Given the description of an element on the screen output the (x, y) to click on. 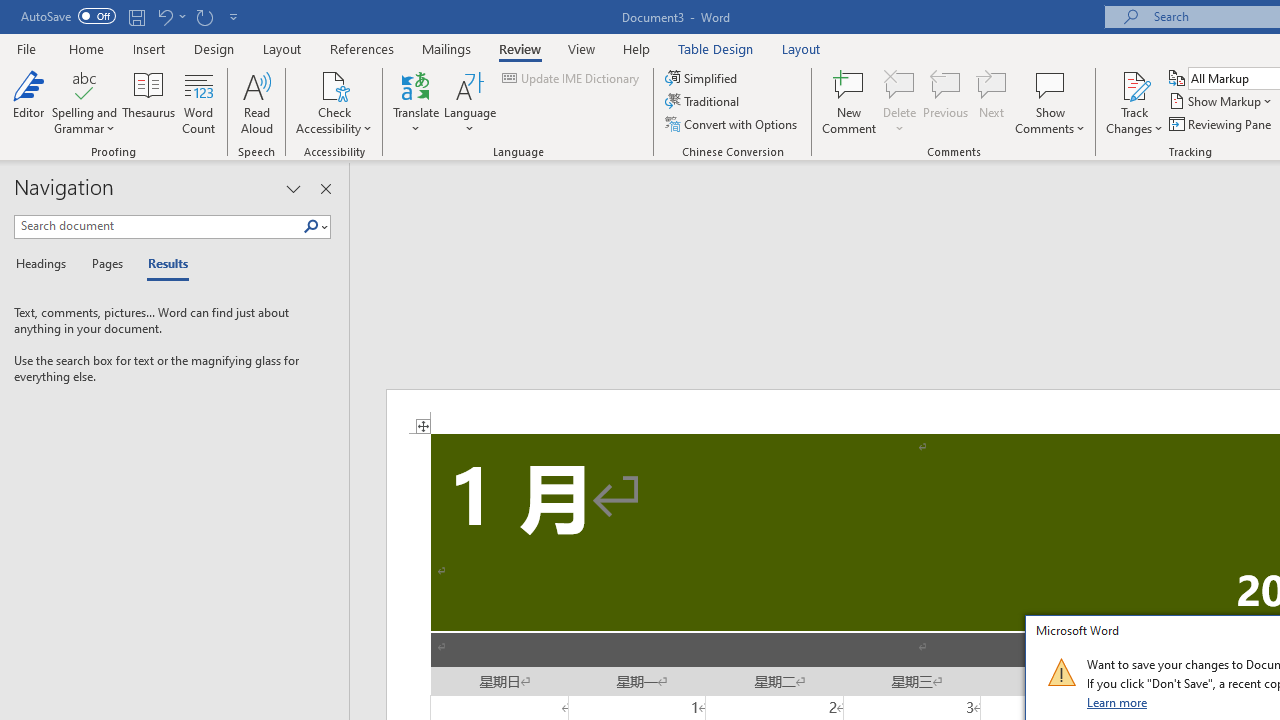
Learn more (1118, 702)
Show Markup (1222, 101)
New Comment (849, 102)
Simplified (702, 78)
Show Comments (1050, 84)
Translate (415, 102)
Previous (946, 102)
Undo Apply Quick Style (170, 15)
Repeat Doc Close (204, 15)
